Given the description of an element on the screen output the (x, y) to click on. 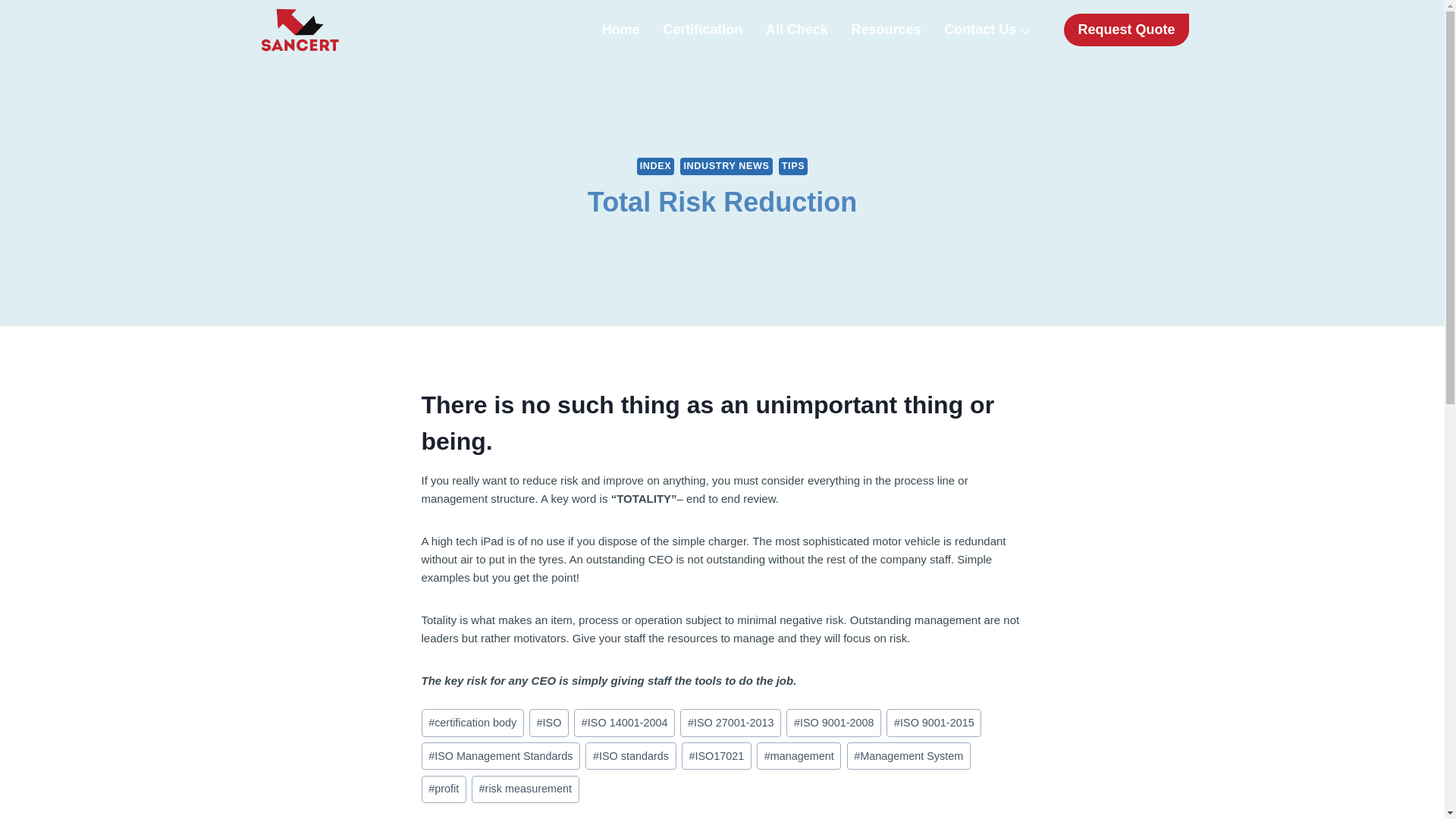
ISO Management Standards (501, 756)
INDEX (656, 166)
ISO standards (630, 756)
Request Quote (1126, 29)
ISO 14001-2004 (624, 723)
ISO 9001-2008 (833, 723)
All Check (797, 29)
risk measurement (525, 789)
ISO (549, 723)
profit (443, 789)
TIPS (793, 166)
Contact Us (987, 29)
management (799, 756)
Certification (702, 29)
INDUSTRY NEWS (725, 166)
